Given the description of an element on the screen output the (x, y) to click on. 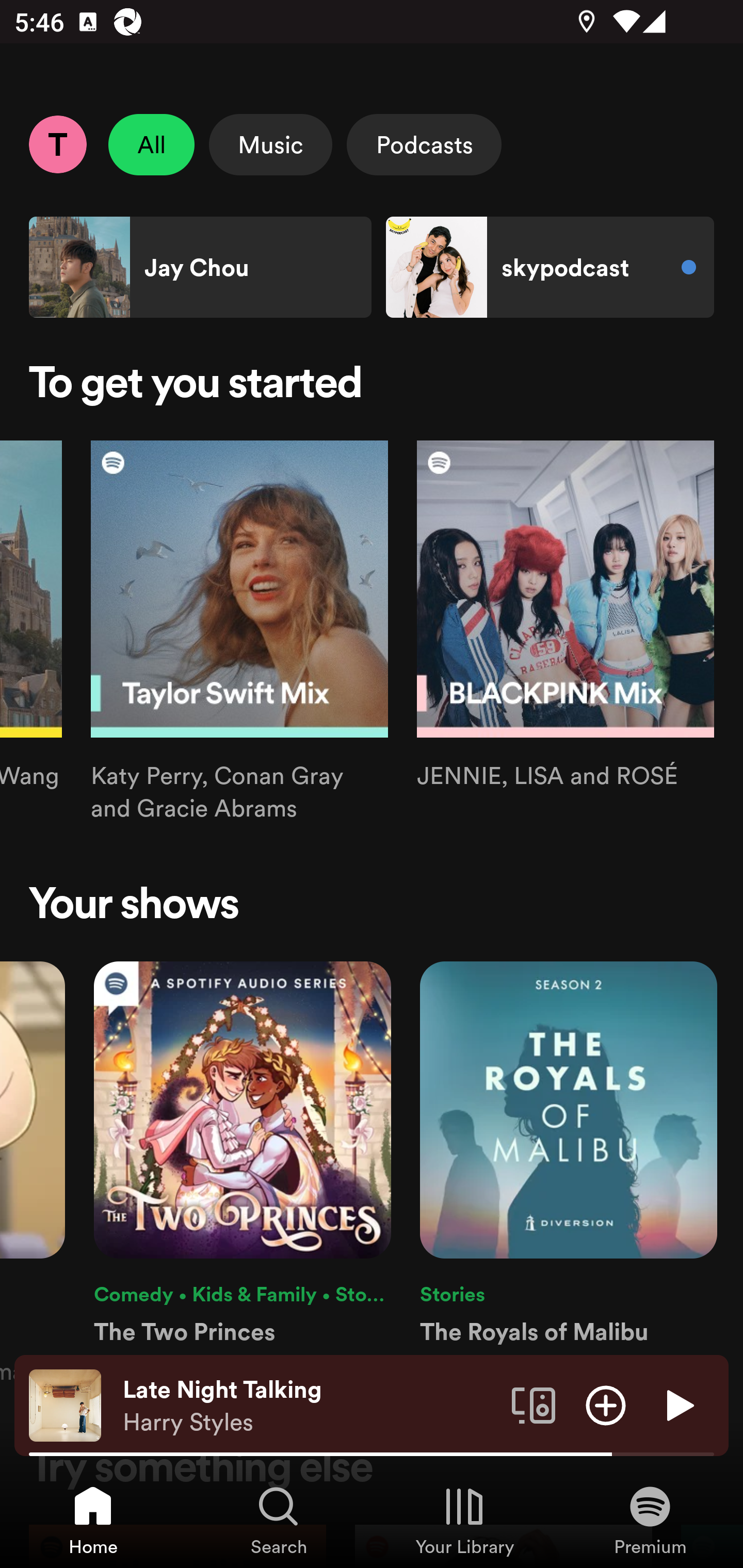
Profile (57, 144)
All Unselect All (151, 144)
Music Select Music (270, 144)
Podcasts Select Podcasts (423, 144)
Jay Chou Shortcut Jay Chou (199, 267)
skypodcast Shortcut skypodcast New content (549, 267)
Stories The Royals of Malibu Show • Diversion (567, 1174)
Late Night Talking Harry Styles (309, 1405)
The cover art of the currently playing track (64, 1404)
Connect to a device. Opens the devices menu (533, 1404)
Add item (605, 1404)
Play (677, 1404)
Home, Tab 1 of 4 Home Home (92, 1519)
Search, Tab 2 of 4 Search Search (278, 1519)
Your Library, Tab 3 of 4 Your Library Your Library (464, 1519)
Premium, Tab 4 of 4 Premium Premium (650, 1519)
